Given the description of an element on the screen output the (x, y) to click on. 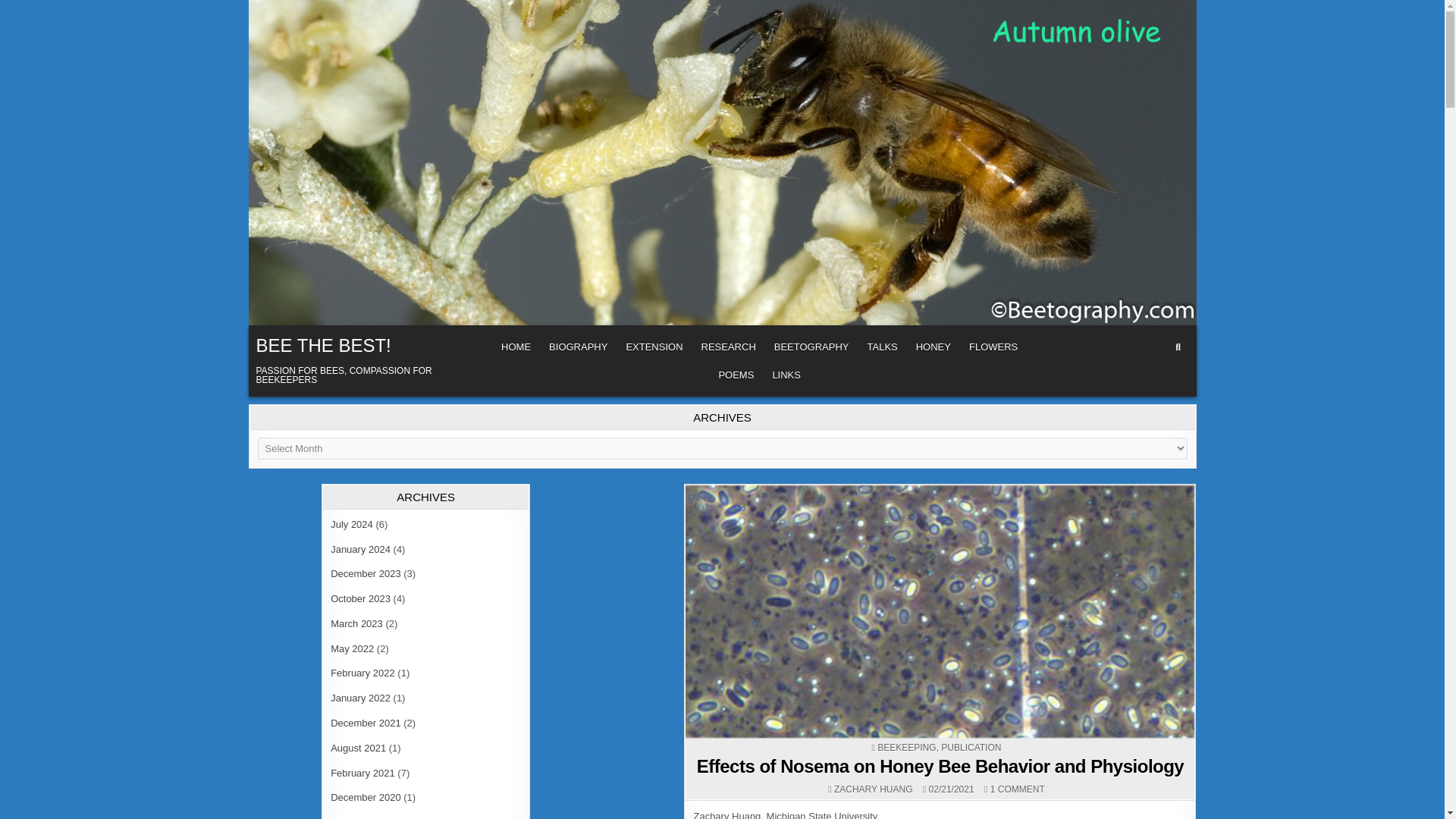
POEMS (735, 375)
RESEARCH (729, 346)
March 2023 (356, 623)
BEETOGRAPHY (812, 346)
February 2022 (362, 672)
BEE THE BEST! (323, 344)
HONEY (933, 346)
ZACHARY HUANG (873, 788)
LINKS (785, 375)
